Given the description of an element on the screen output the (x, y) to click on. 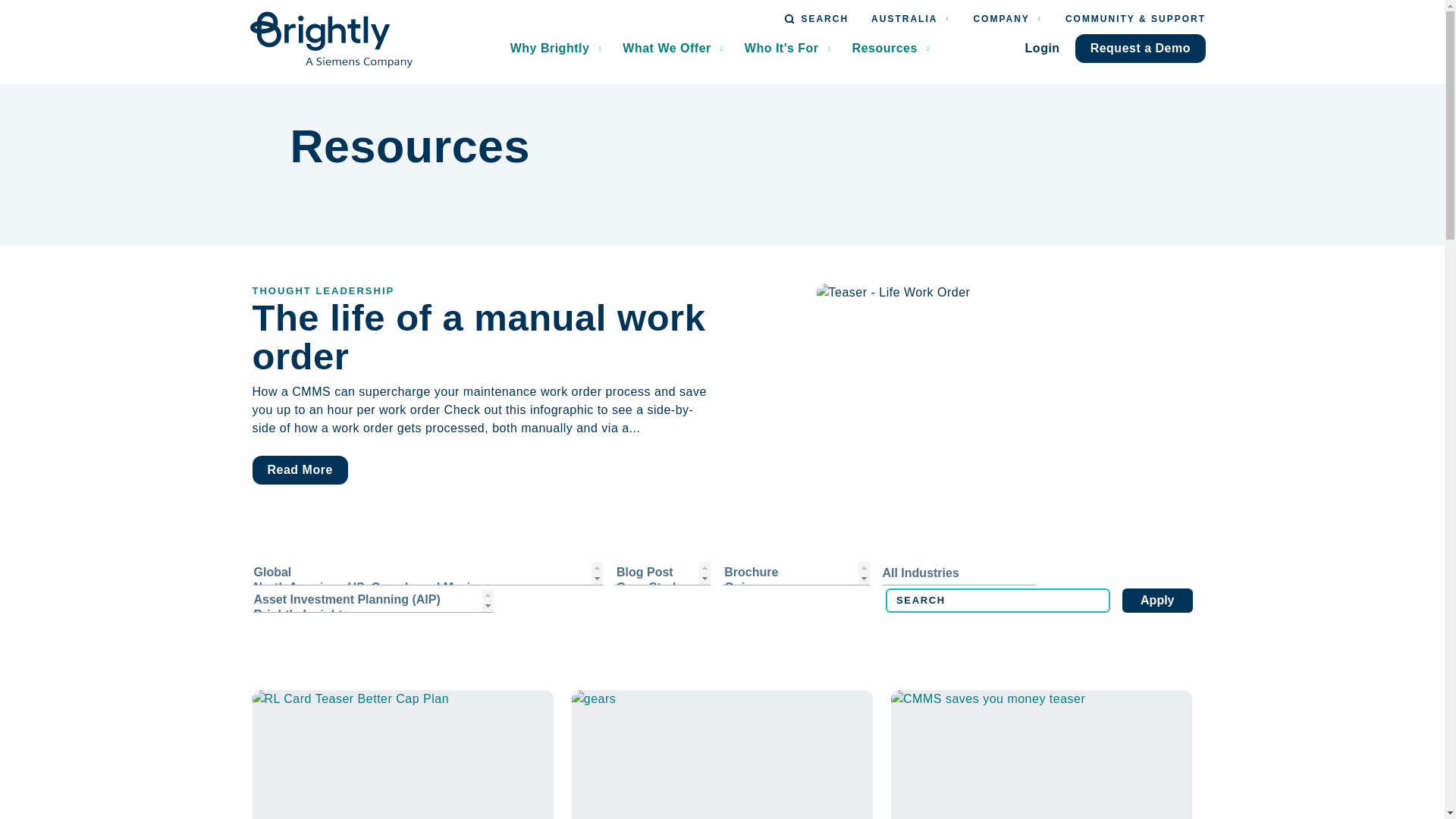
COMPANY (1007, 18)
SEARCH (816, 18)
Apply (1157, 600)
AUSTRALIA (910, 18)
